Given the description of an element on the screen output the (x, y) to click on. 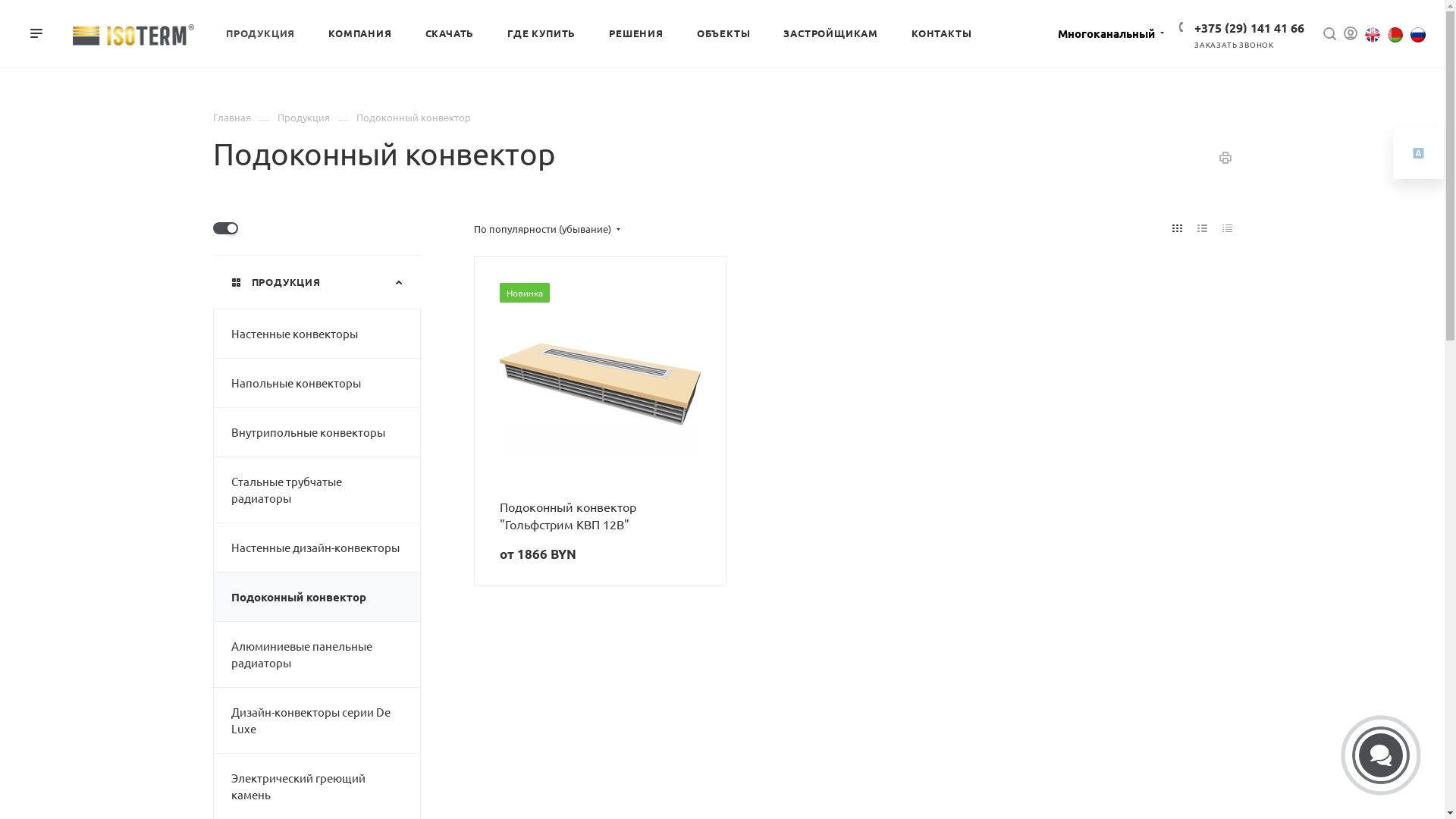
+375 (29) 141 41 66 Element type: text (1249, 27)
